Given the description of an element on the screen output the (x, y) to click on. 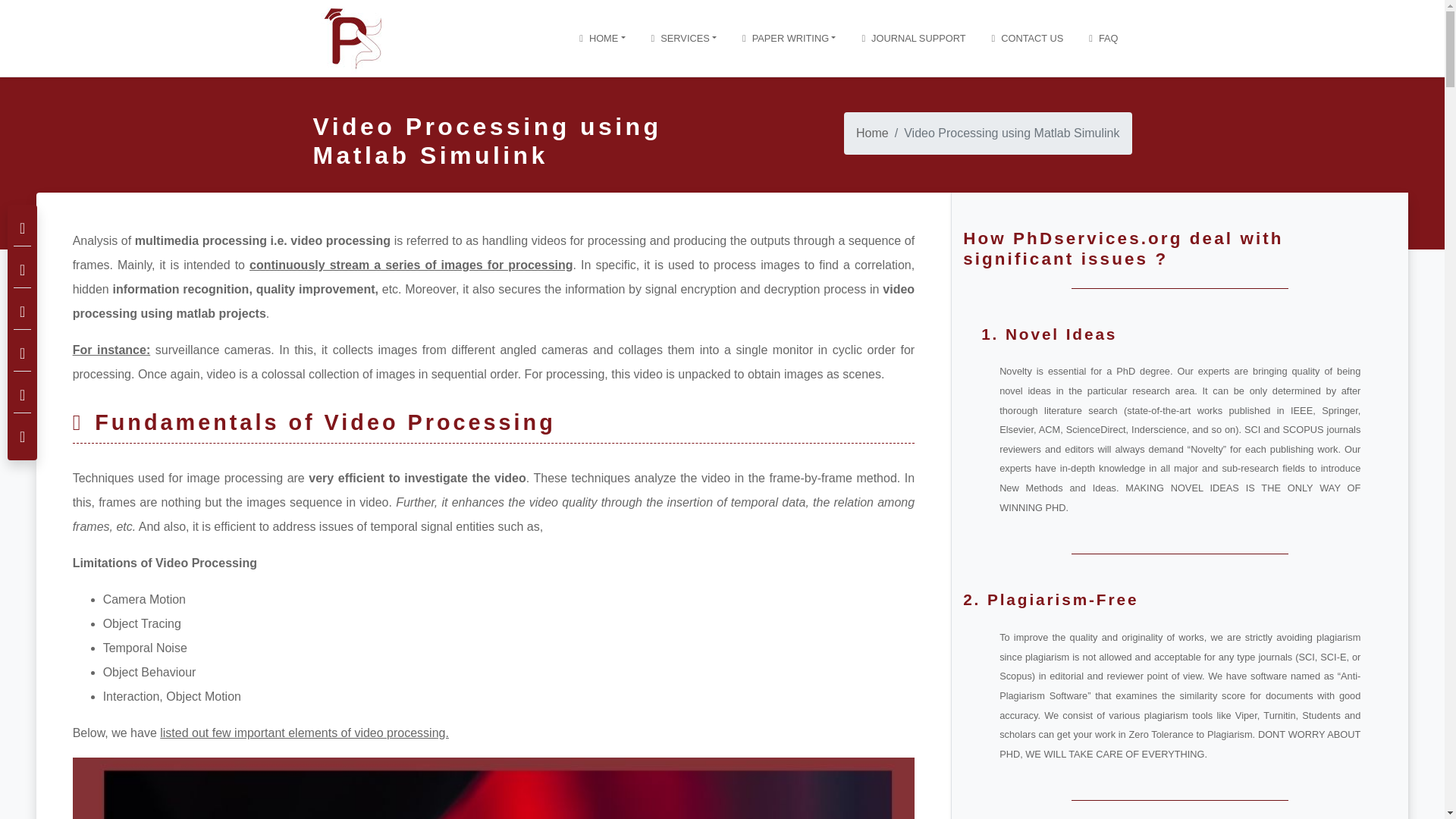
Paper Writing (789, 38)
Services (684, 38)
FAQ (1102, 38)
Home (601, 38)
CONTACT US (1027, 38)
SERVICES (684, 38)
Home (872, 132)
PAPER WRITING (789, 38)
HOME (601, 38)
JOURNAL SUPPORT (913, 38)
